Given the description of an element on the screen output the (x, y) to click on. 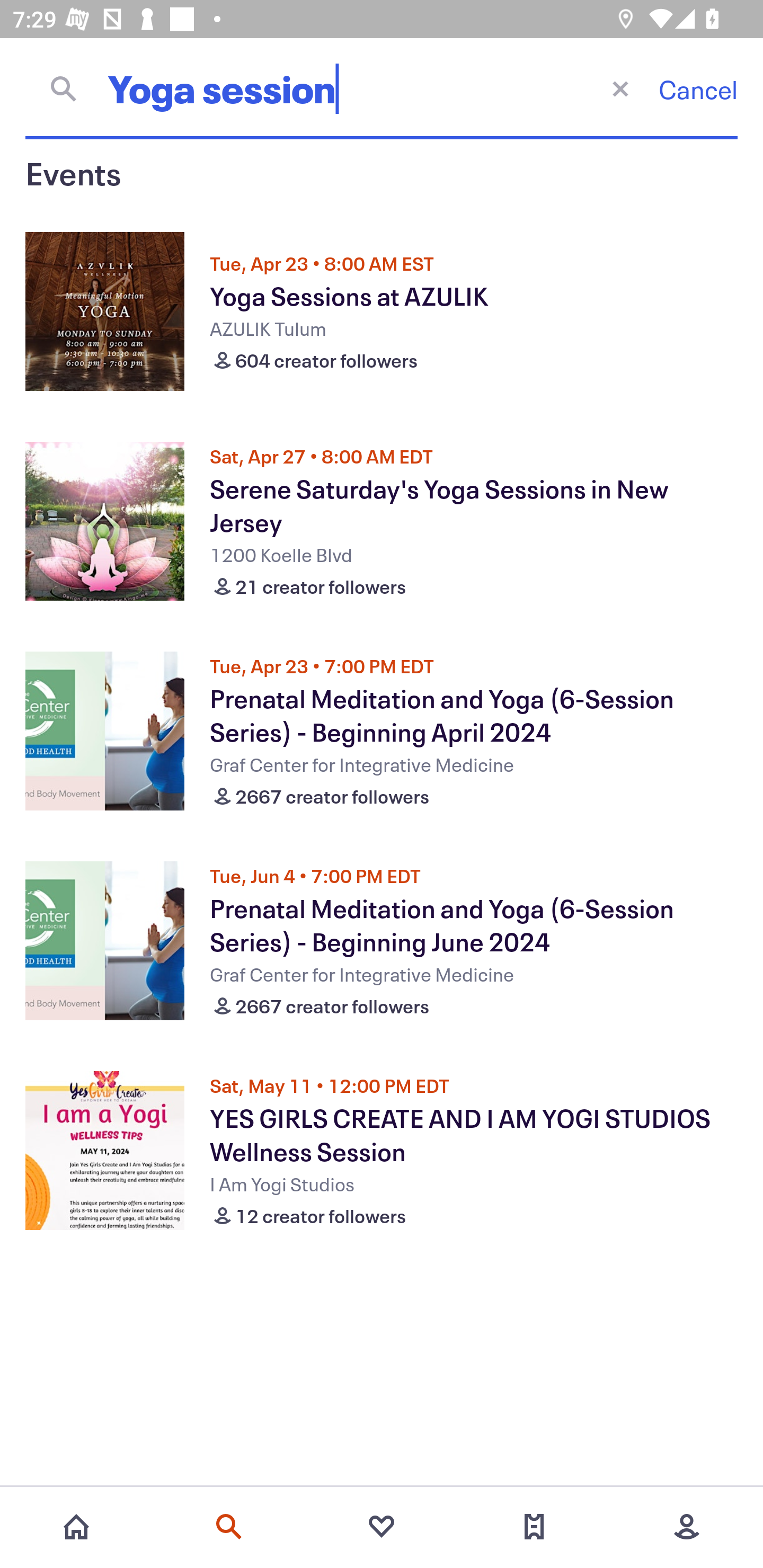
Yoga session Close current screen Cancel (381, 88)
Close current screen (620, 88)
Cancel (697, 89)
Home (76, 1526)
Search events (228, 1526)
Favorites (381, 1526)
Tickets (533, 1526)
More (686, 1526)
